Given the description of an element on the screen output the (x, y) to click on. 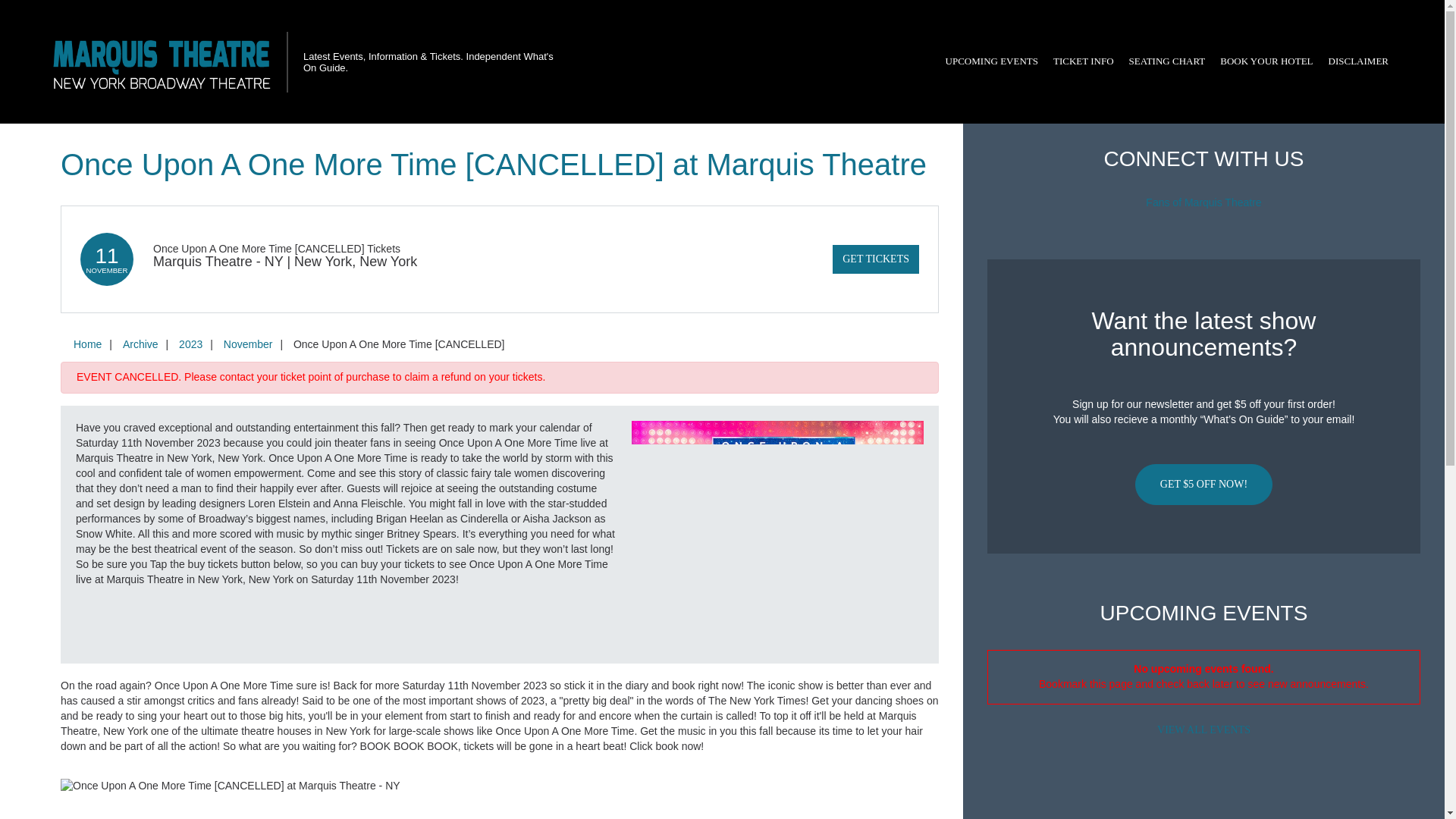
GET TICKETS (875, 258)
Archive (140, 344)
Fans of Marquis Theatre (1202, 202)
November (248, 344)
UPCOMING EVENTS (991, 61)
SEATING CHART (1166, 61)
TICKET INFO (1083, 61)
Home (87, 344)
VIEW ALL EVENTS (1203, 729)
BOOK YOUR HOTEL (1266, 61)
